Given the description of an element on the screen output the (x, y) to click on. 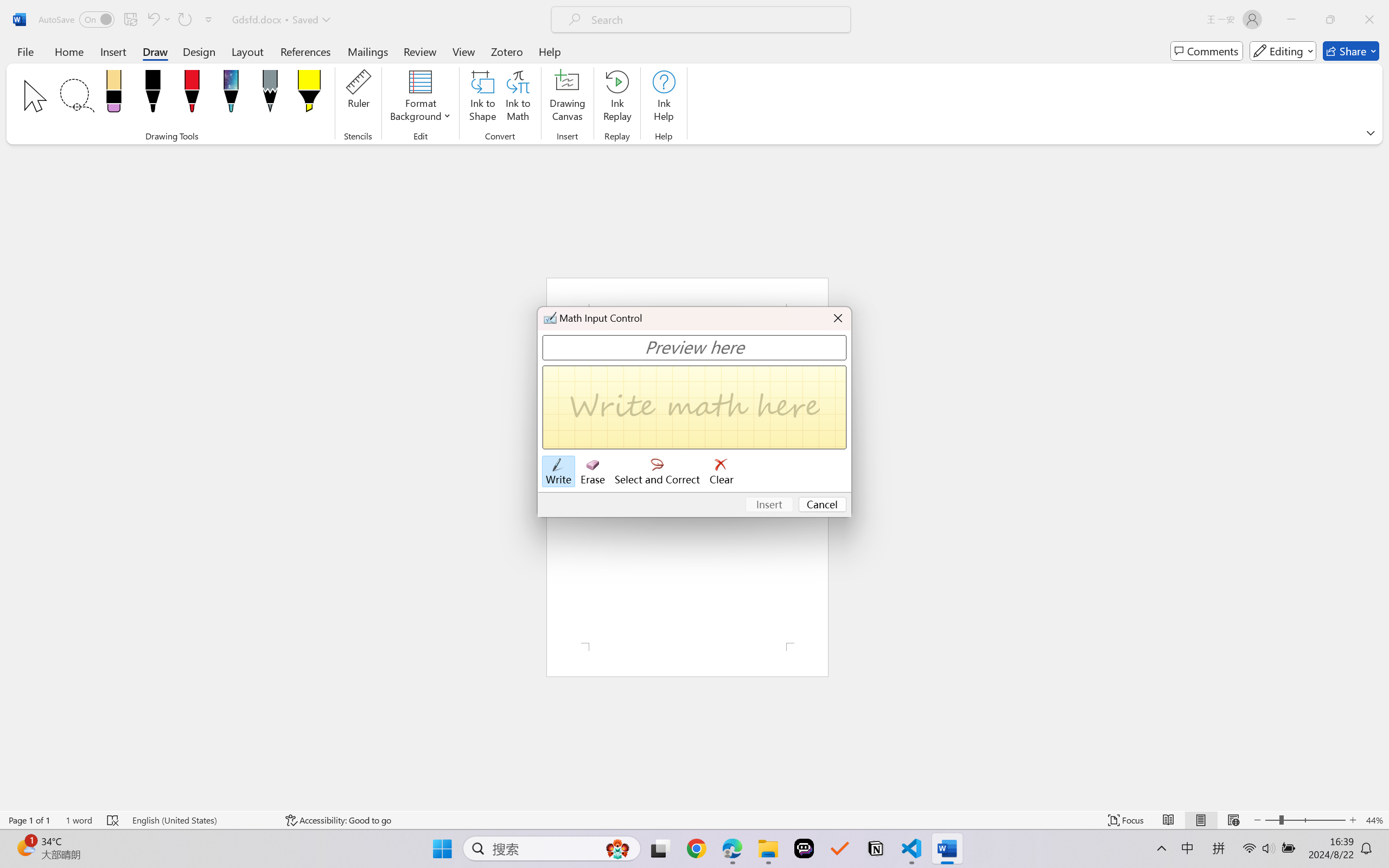
Notion (875, 848)
Poe (804, 848)
